Given the description of an element on the screen output the (x, y) to click on. 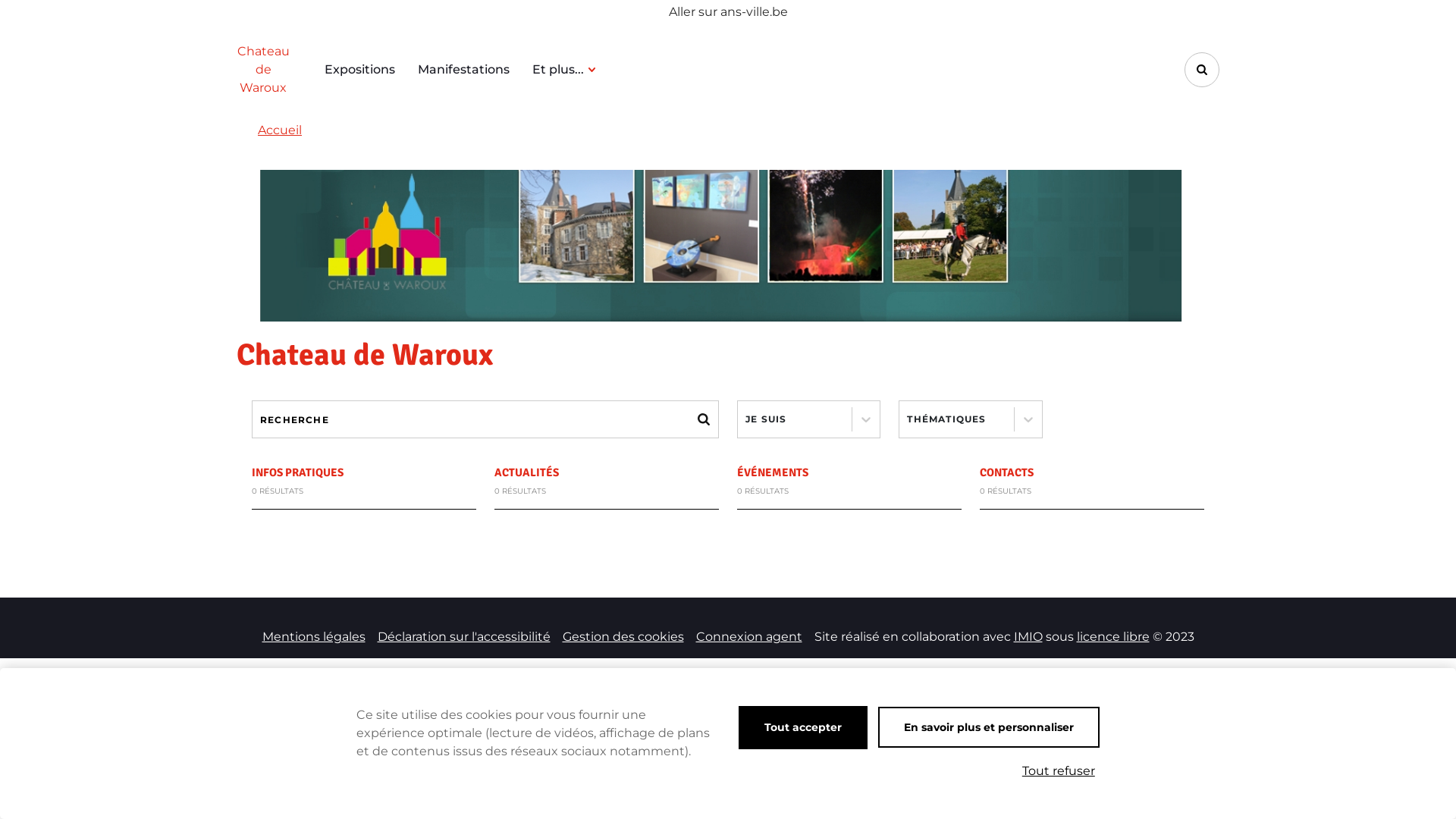
Gestion des cookies Element type: text (623, 636)
Tout refuser Element type: text (1058, 771)
Expositions Element type: text (359, 69)
Manifestations Element type: text (463, 69)
Et plus... Element type: text (563, 69)
Tout accepter Element type: text (802, 727)
En savoir plus et personnaliser Element type: text (988, 726)
Aller sur ans-ville.be Element type: text (727, 11)
IMIO Element type: text (1027, 636)
licence libre Element type: text (1112, 636)
Accueil Element type: text (279, 129)
Chateau de Waroux Element type: text (262, 69)
Rechercher Element type: text (1201, 69)
Connexion agent Element type: text (749, 636)
